Given the description of an element on the screen output the (x, y) to click on. 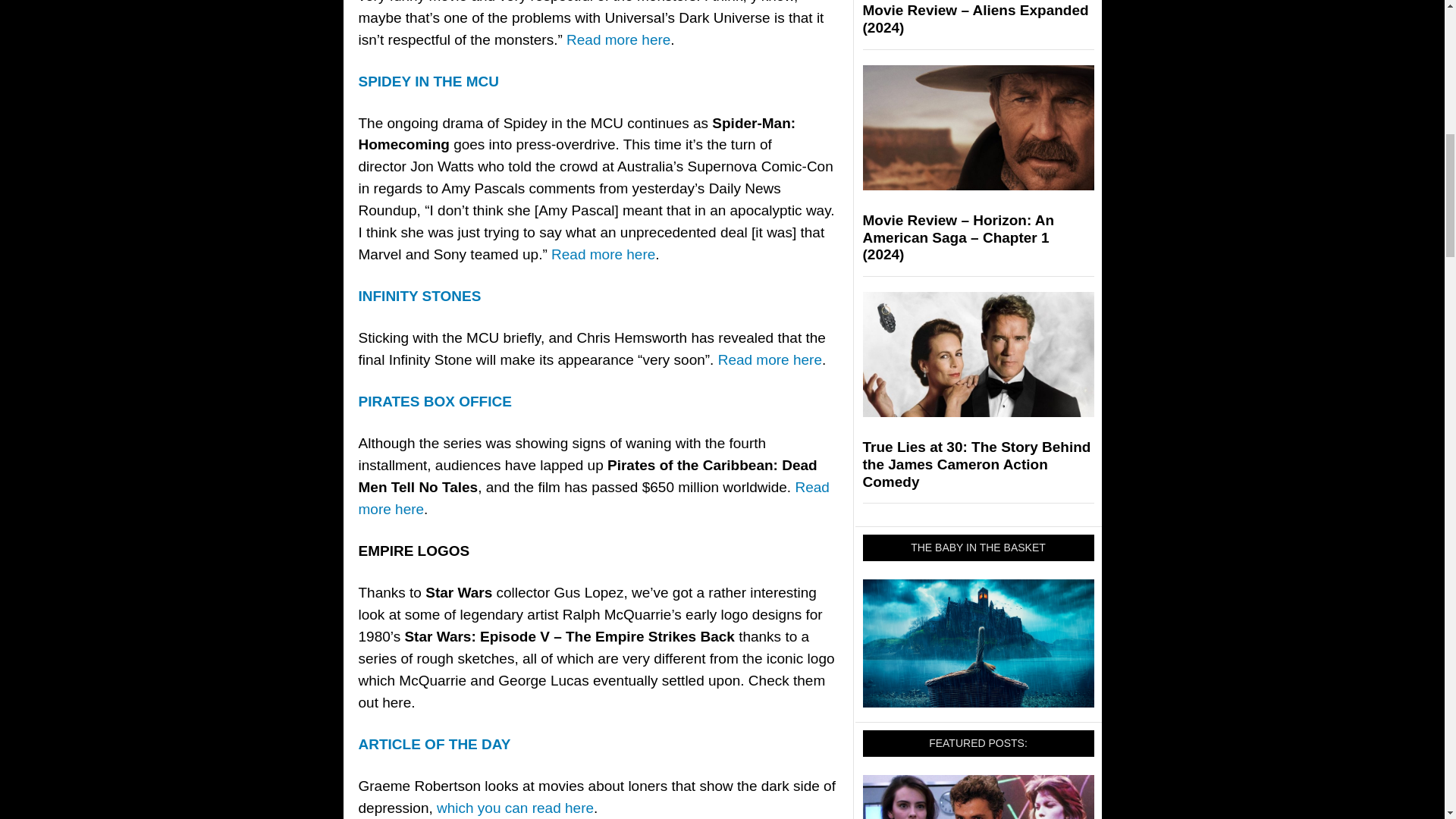
Read more here (617, 39)
SPIDEY IN THE MCU (427, 81)
